Given the description of an element on the screen output the (x, y) to click on. 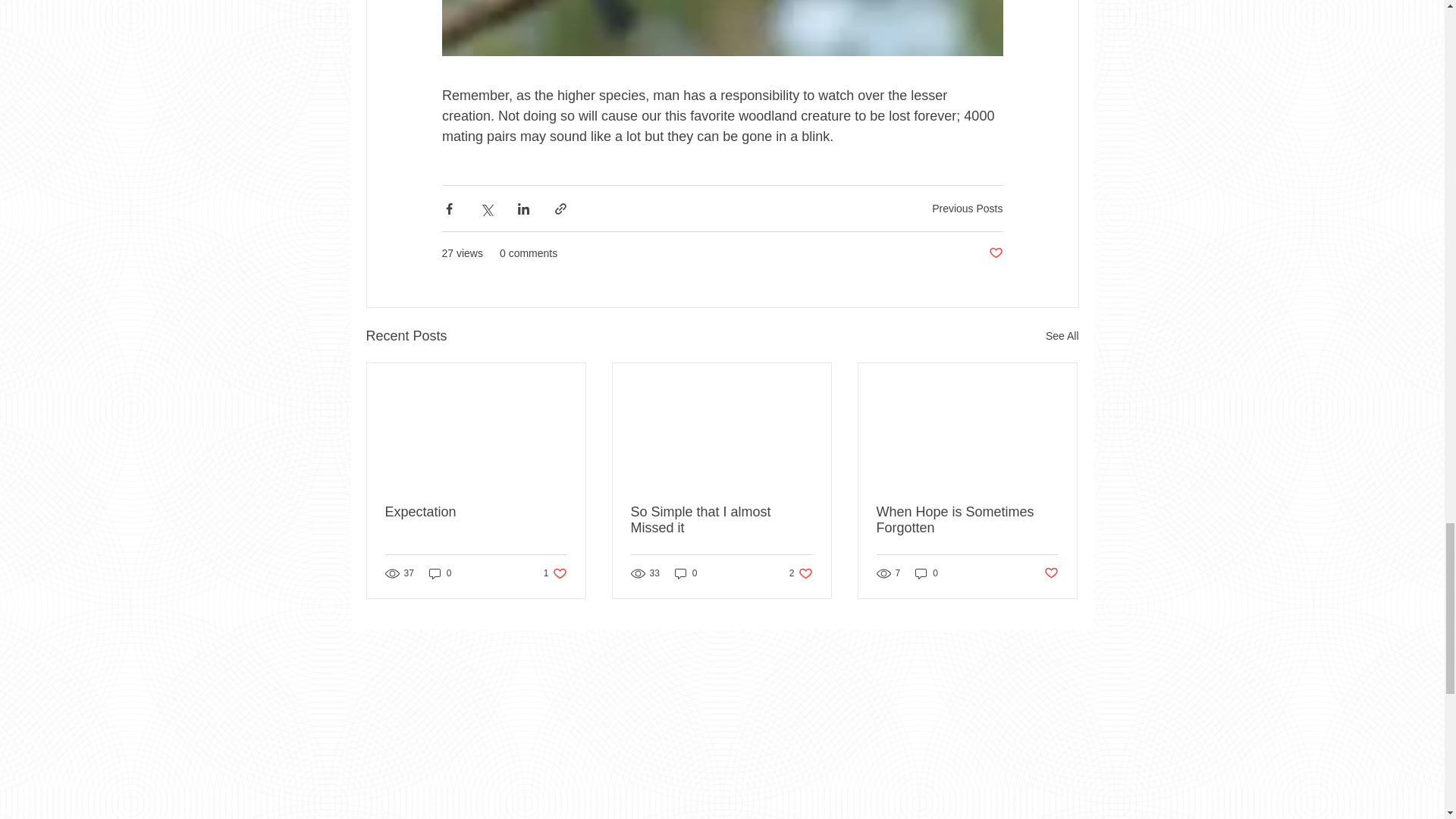
So Simple that I almost Missed it (555, 573)
Post not marked as liked (721, 520)
Expectation (995, 253)
0 (800, 573)
0 (476, 512)
When Hope is Sometimes Forgotten (440, 573)
Previous Posts (926, 573)
Post not marked as liked (967, 520)
0 (967, 208)
See All (1050, 573)
